Given the description of an element on the screen output the (x, y) to click on. 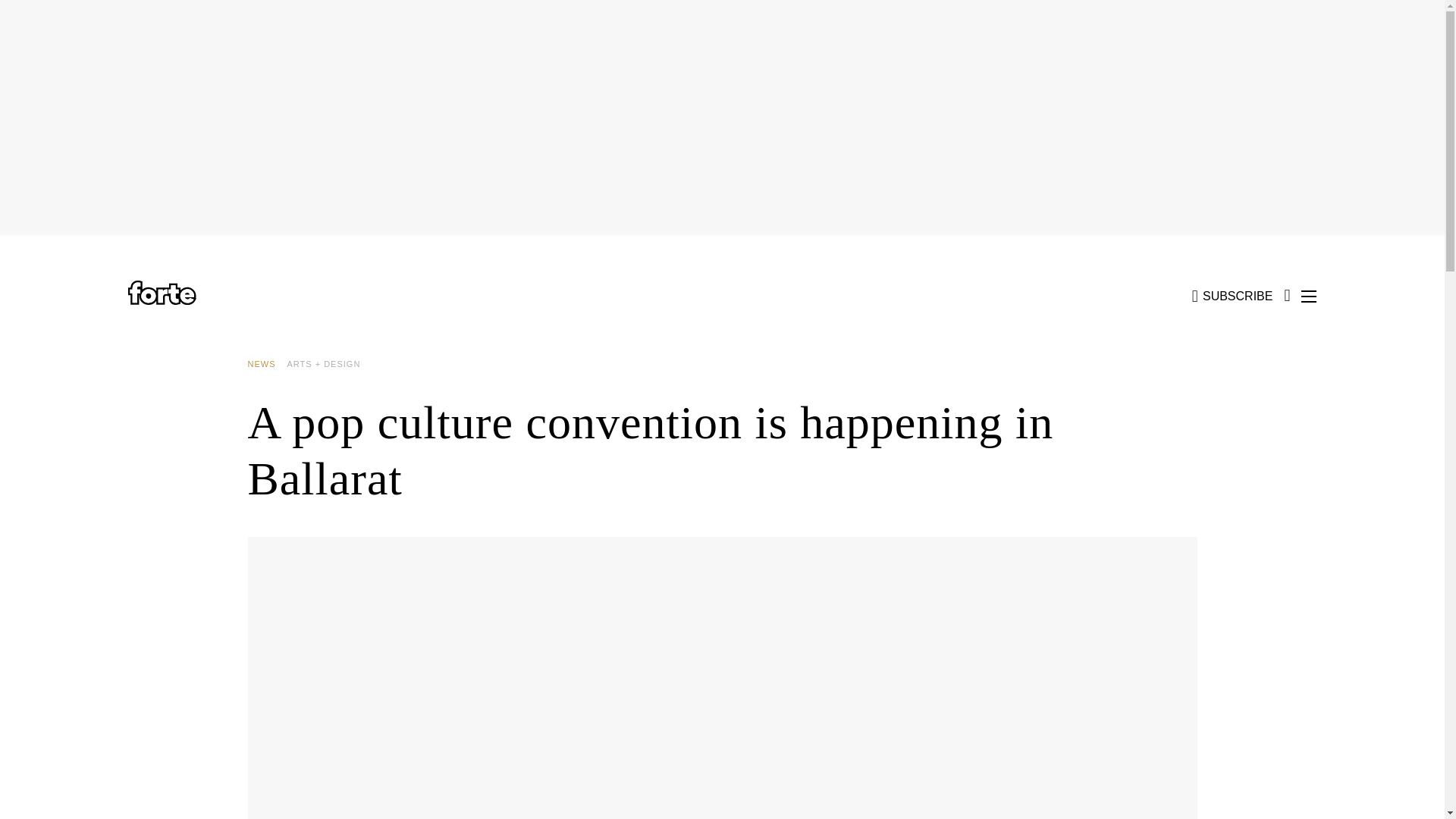
NEWS (266, 364)
